Given the description of an element on the screen output the (x, y) to click on. 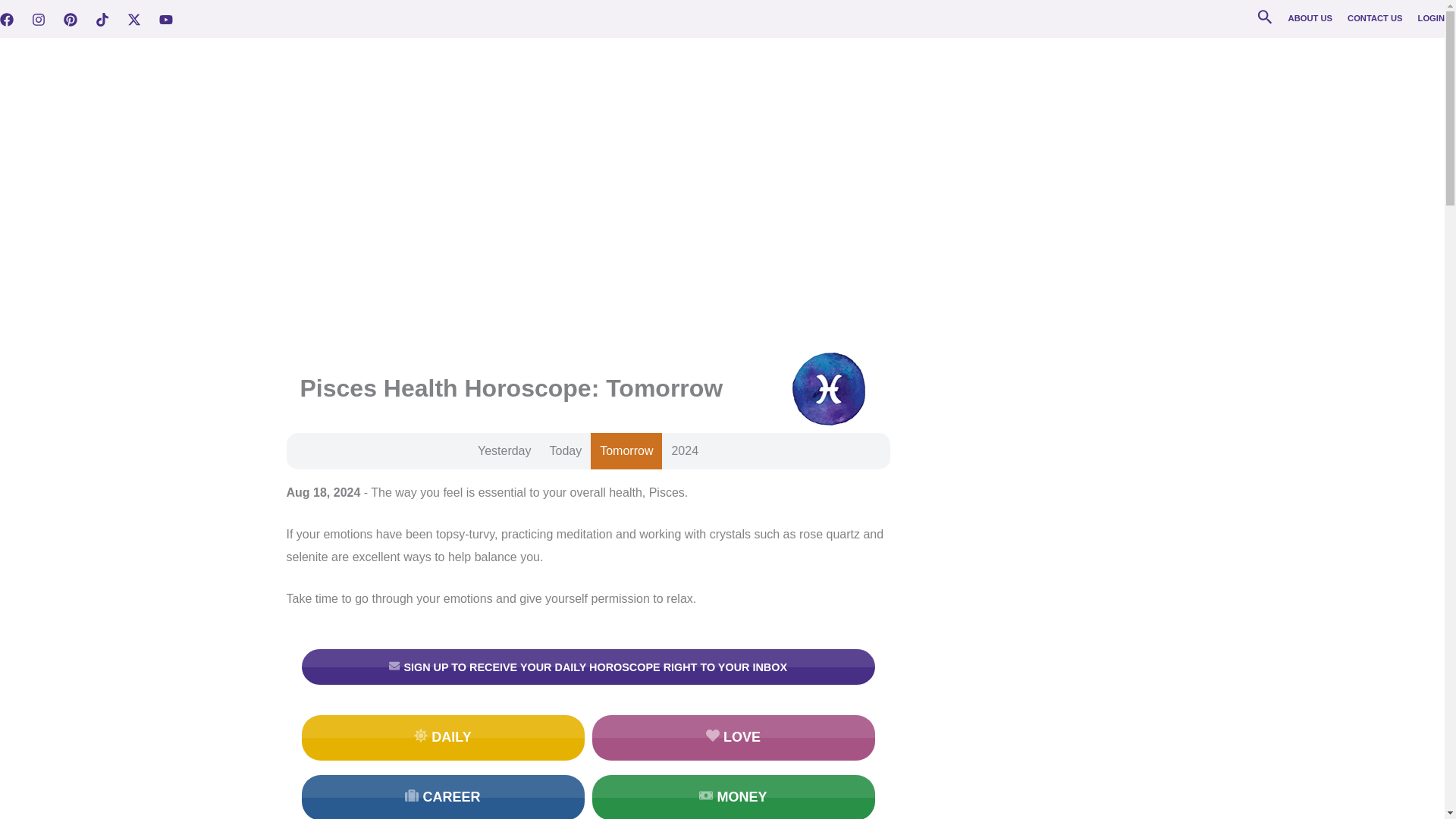
CONTACT US (1375, 18)
HOROSCOPES (955, 67)
ASTROLOGY (1048, 67)
ABOUT US (1310, 18)
